Given the description of an element on the screen output the (x, y) to click on. 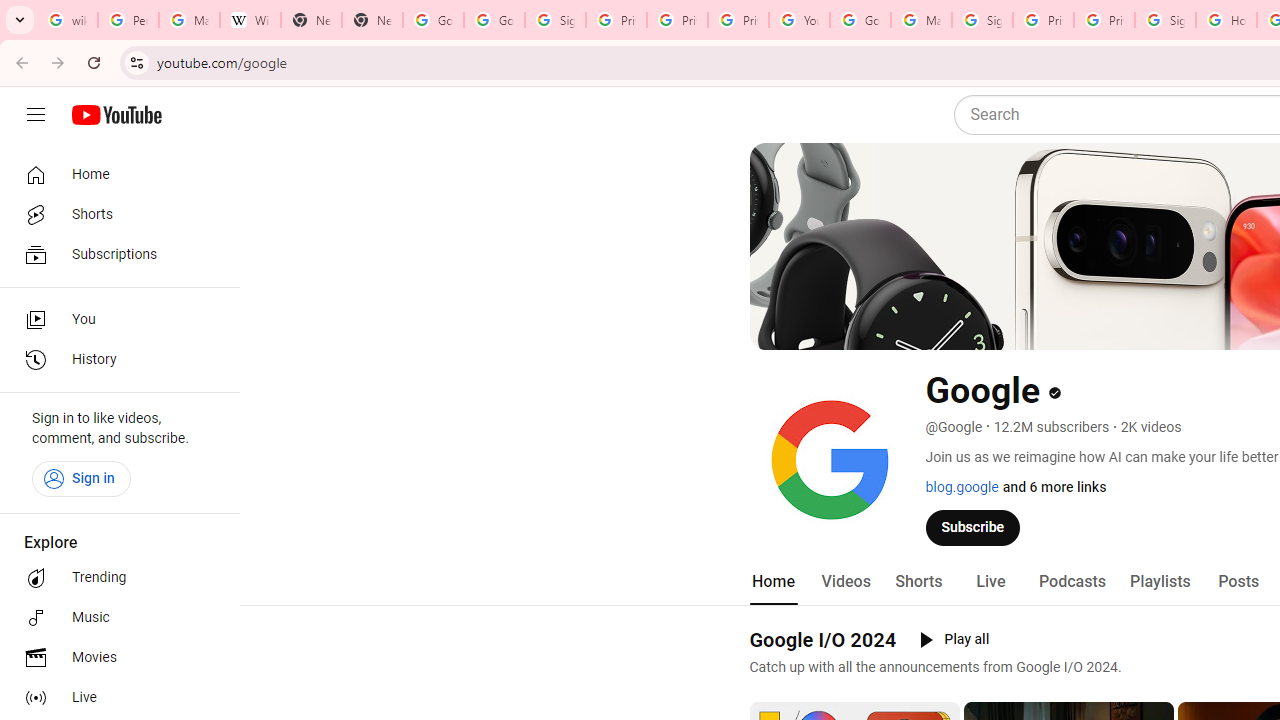
Guide (35, 115)
Home (113, 174)
Google I/O 2024 (822, 639)
Music (113, 617)
Subscribe (973, 527)
blog.google (961, 487)
Movies (113, 657)
New Tab (310, 20)
Playlists (1160, 581)
Live (113, 697)
and 6 more links (1054, 487)
